Given the description of an element on the screen output the (x, y) to click on. 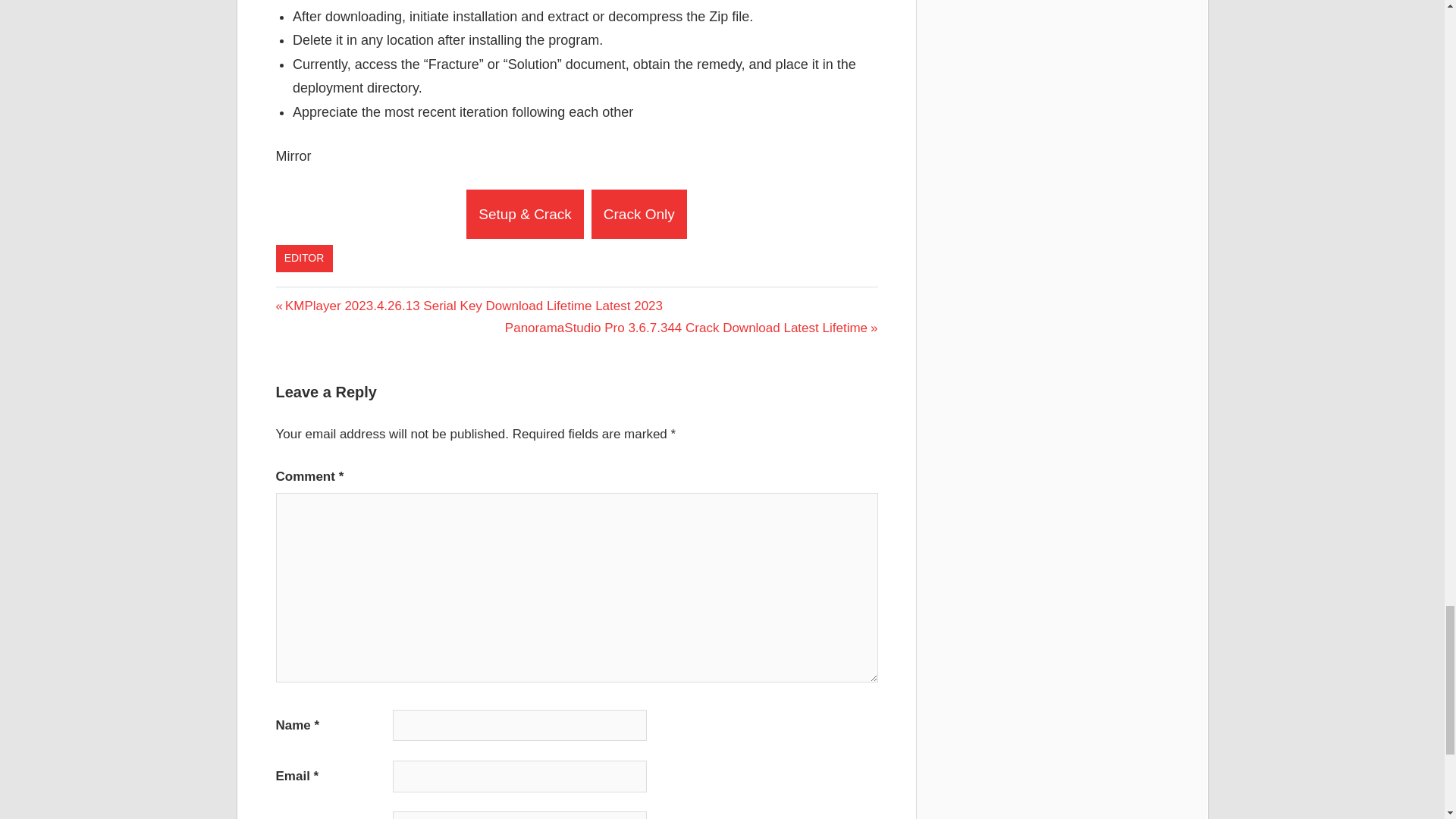
EDITOR (304, 257)
Crack Only (639, 214)
